Given the description of an element on the screen output the (x, y) to click on. 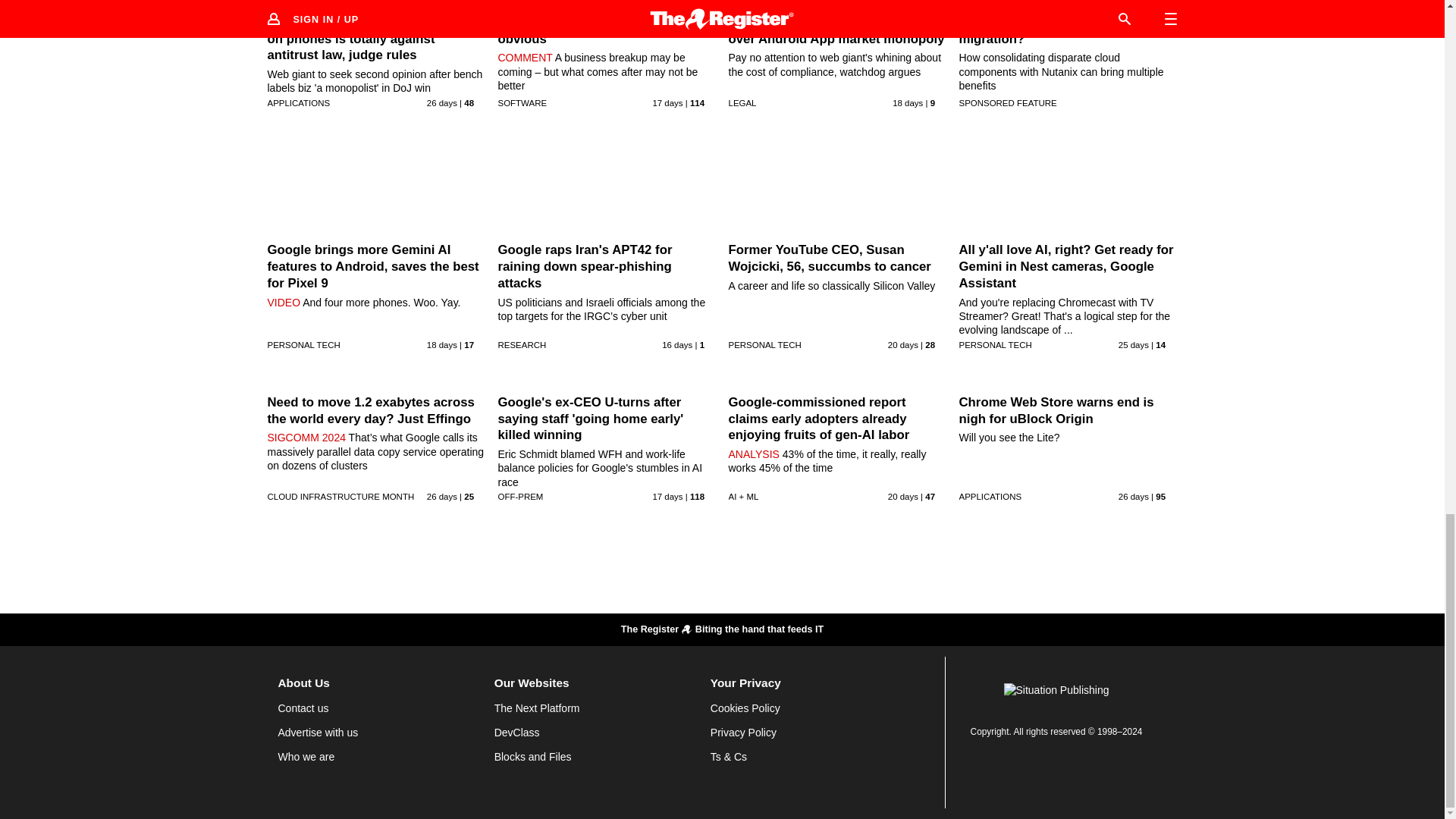
12 Aug 2024 6:30 (903, 344)
15 Aug 2024 16:25 (677, 344)
13 Aug 2024 19:15 (907, 102)
15 Aug 2024 11:28 (667, 102)
5 Aug 2024 21:58 (441, 102)
13 Aug 2024 22:45 (441, 344)
